Given the description of an element on the screen output the (x, y) to click on. 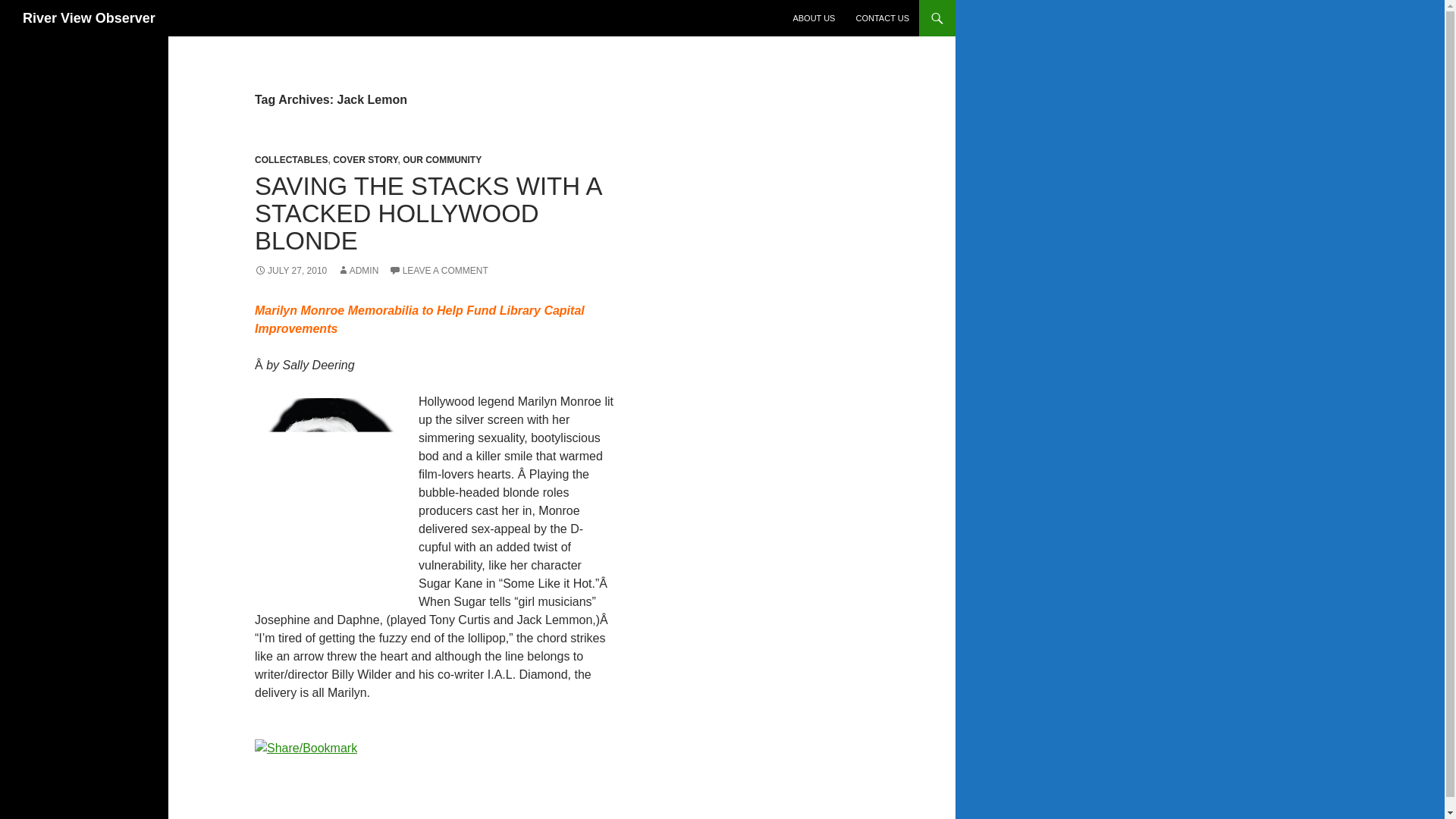
OUR COMMUNITY (442, 159)
LEAVE A COMMENT (437, 270)
COLLECTABLES (290, 159)
ADMIN (357, 270)
ABOUT US (813, 18)
River View Observer (89, 18)
COVER STORY (365, 159)
SAVING THE STACKS WITH A STACKED HOLLYWOOD BLONDE (427, 212)
JULY 27, 2010 (290, 270)
CONTACT US (881, 18)
